Given the description of an element on the screen output the (x, y) to click on. 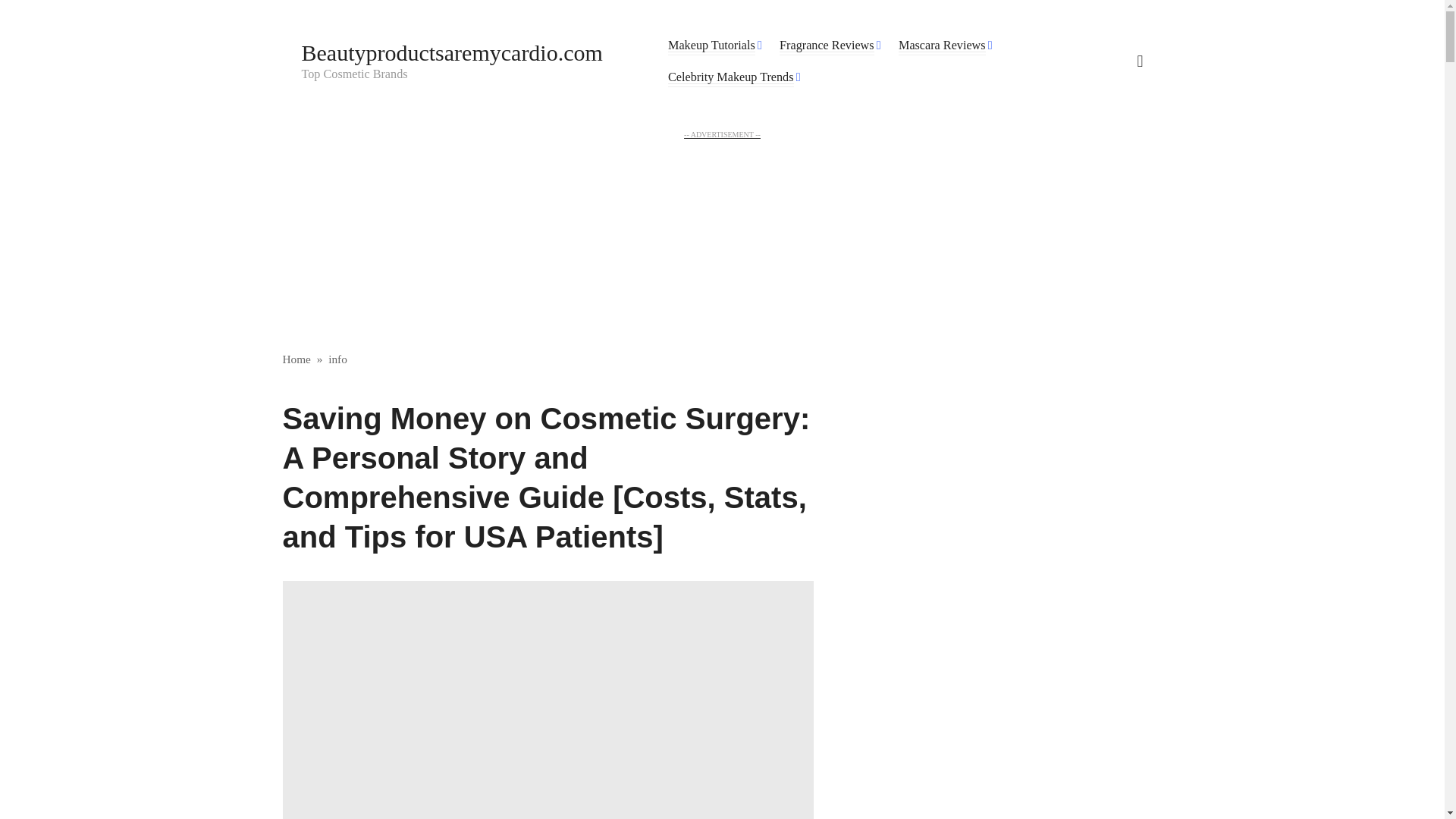
Celebrity Makeup Trends (730, 77)
Fragrance Reviews (826, 45)
Beautyproductsaremycardio.com (451, 52)
Mascara Reviews (941, 45)
info (338, 358)
Home (296, 358)
Makeup Tutorials (711, 45)
